Given the description of an element on the screen output the (x, y) to click on. 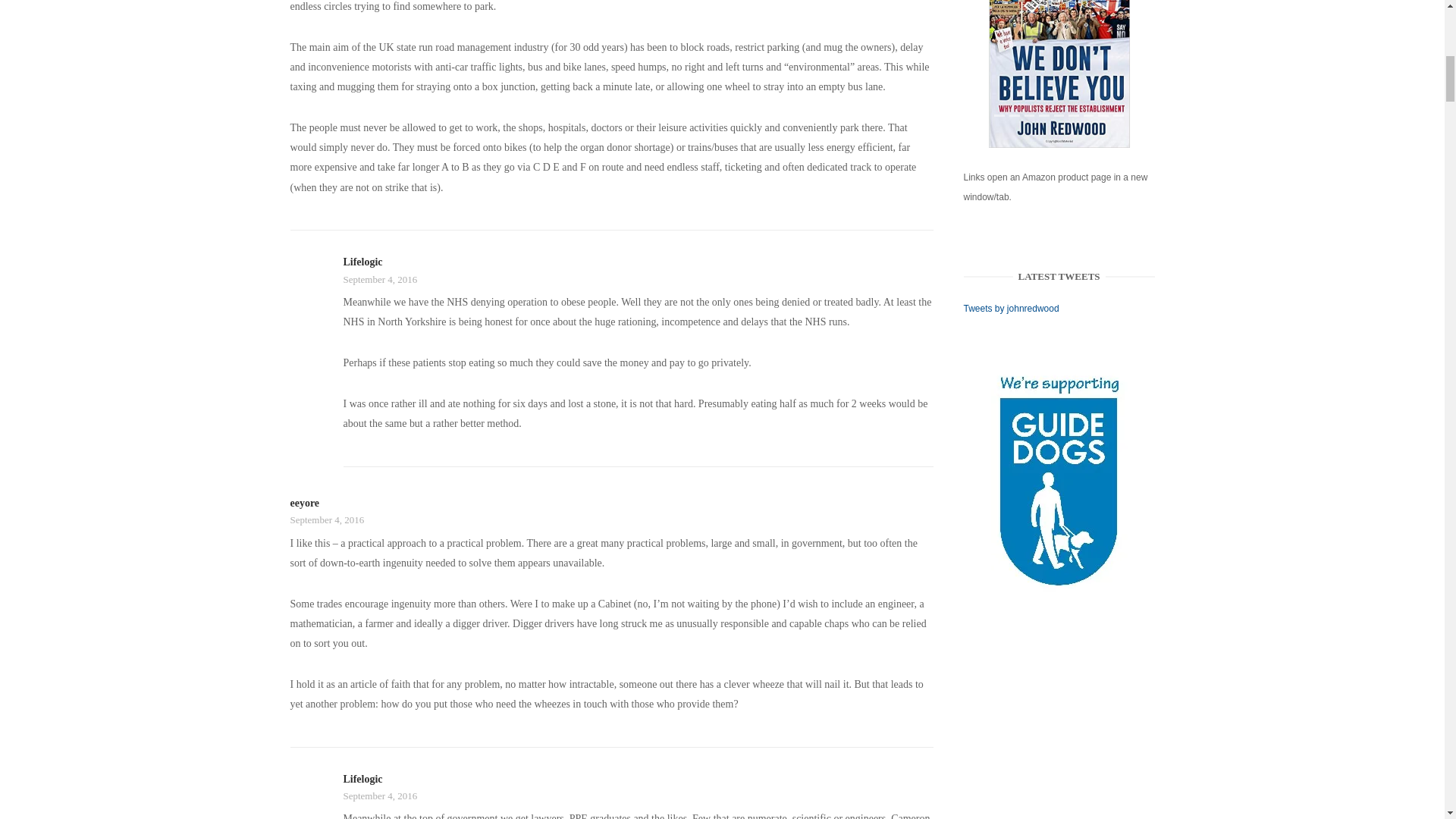
Car parking (1058, 74)
Tweets by johnredwood (1011, 308)
